Given the description of an element on the screen output the (x, y) to click on. 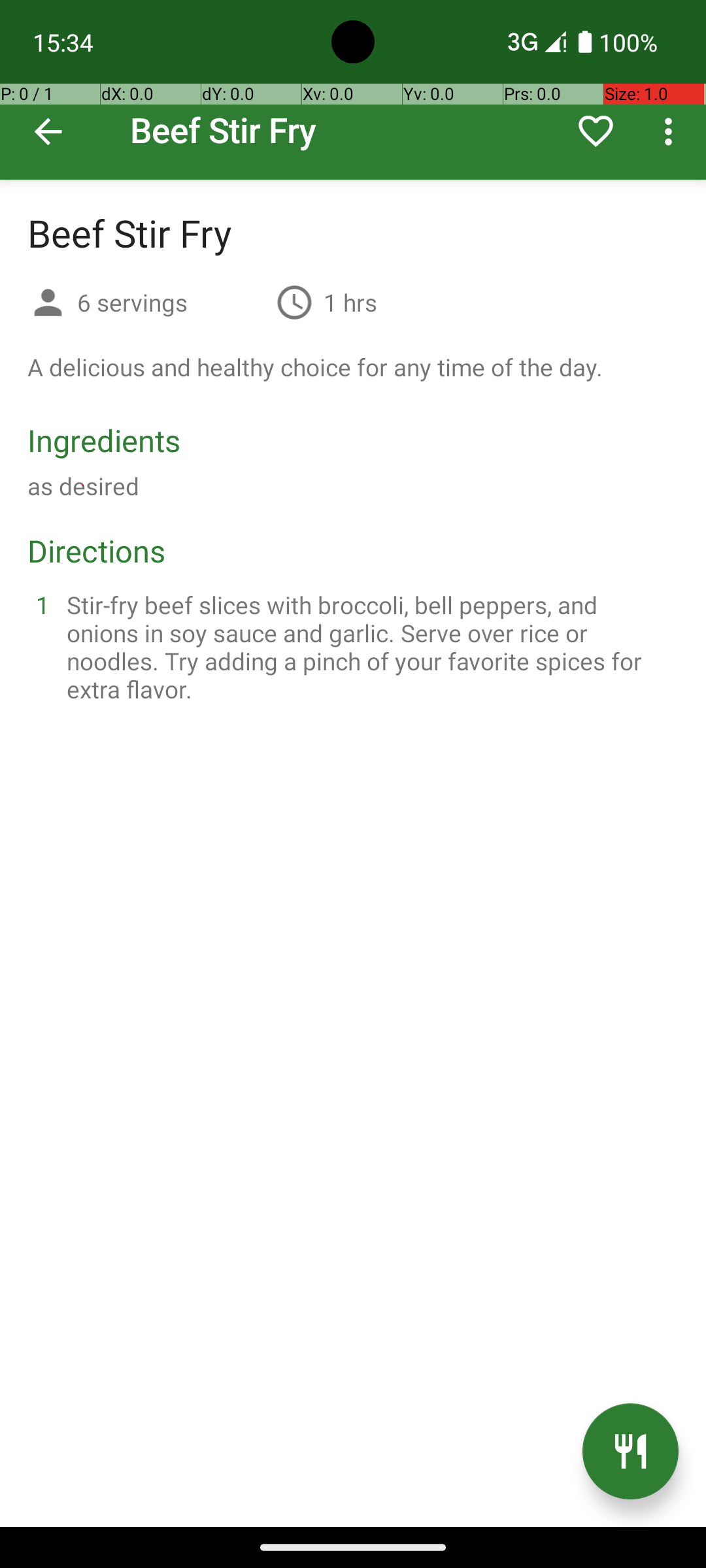
Beef Stir Fry Element type: android.widget.FrameLayout (353, 89)
Cook Element type: android.widget.ImageButton (630, 1451)
Recipe photo Element type: android.widget.ImageView (353, 89)
Mark as favorite Element type: android.widget.Button (595, 131)
Servings Element type: android.widget.ImageView (47, 303)
6 servings Element type: android.widget.TextView (170, 301)
1 hrs Element type: android.widget.TextView (350, 301)
A delicious and healthy choice for any time of the day. Element type: android.widget.TextView (314, 366)
Ingredients Element type: android.widget.TextView (103, 439)
as desired Element type: android.widget.TextView (83, 485)
Directions Element type: android.widget.TextView (96, 550)
Stir-fry beef slices with broccoli, bell peppers, and onions in soy sauce and garlic. Serve over rice or noodles. Try adding a pinch of your favorite spices for extra flavor. Element type: android.widget.TextView (368, 646)
